Given the description of an element on the screen output the (x, y) to click on. 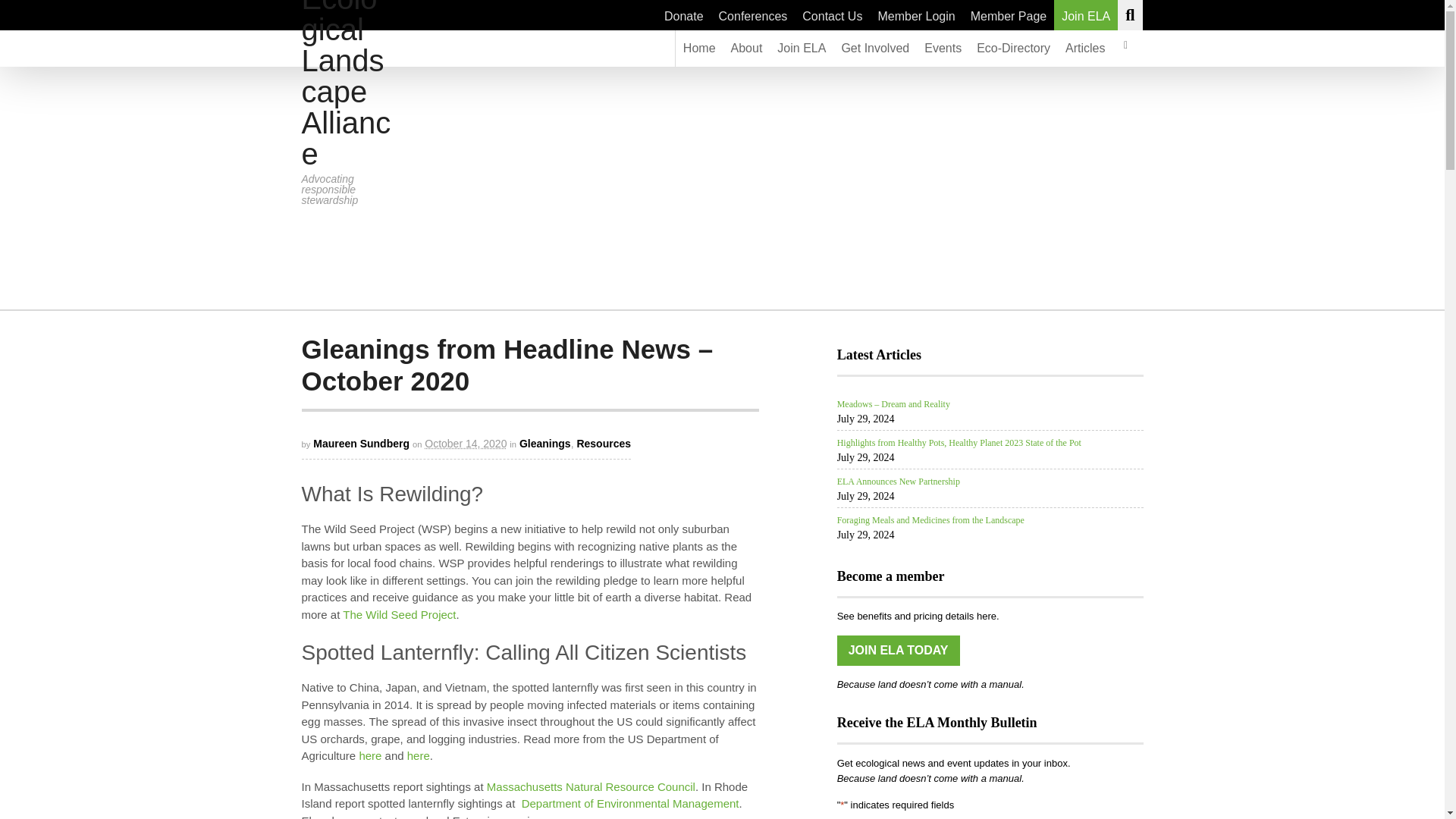
Home (699, 48)
Events (943, 48)
Contact Us (831, 15)
Member Login (915, 15)
About (746, 48)
Member Page (1008, 15)
View all items in Gleanings (544, 443)
Join ELA (801, 48)
Posts by Maureen Sundberg (361, 443)
View all items in Resources (603, 443)
